Given the description of an element on the screen output the (x, y) to click on. 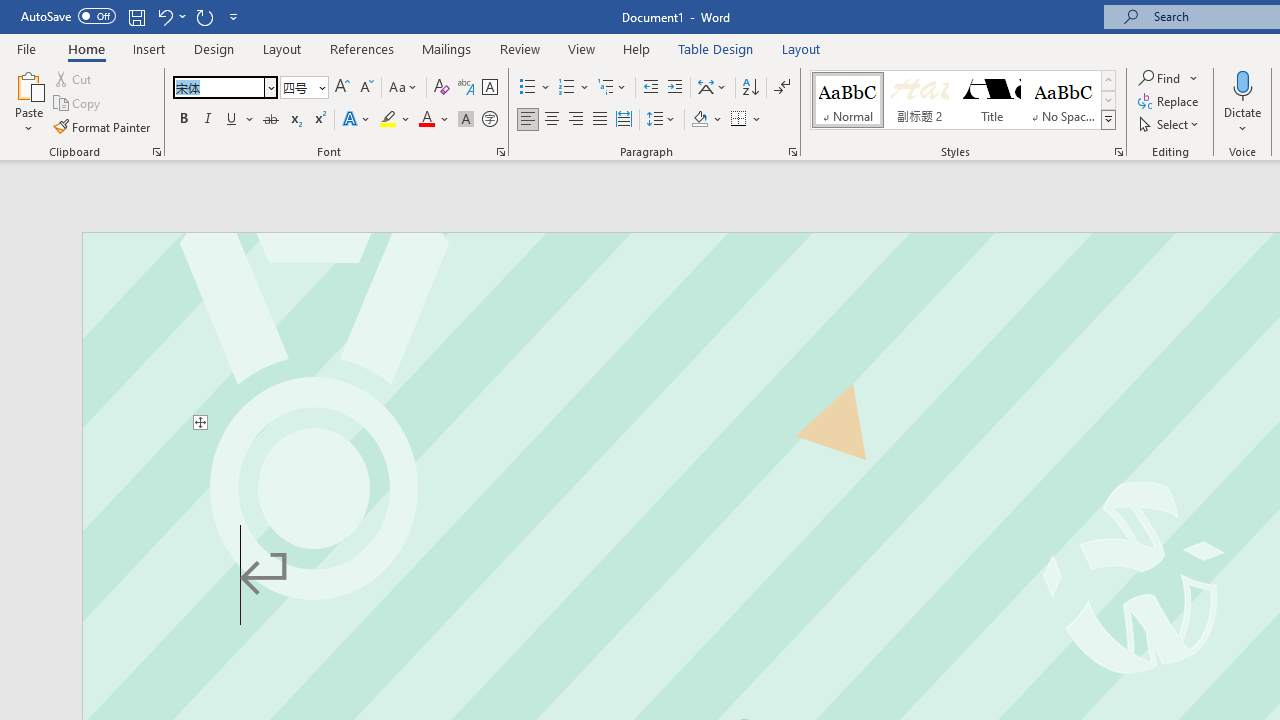
Font Color Red (426, 119)
